Given the description of an element on the screen output the (x, y) to click on. 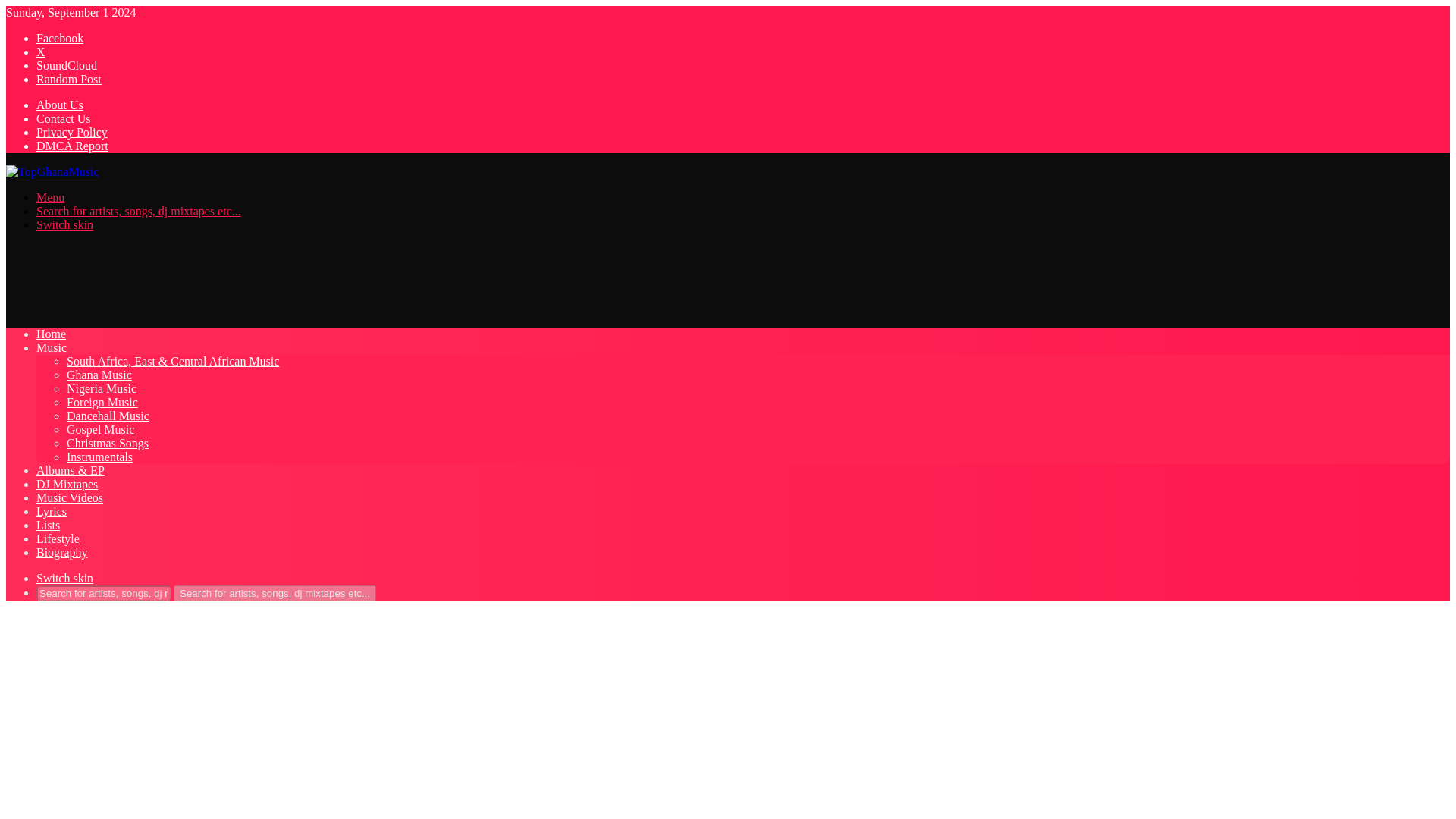
TopGhanaMusic (52, 171)
Music Videos (69, 497)
Ghana Music (99, 374)
Lifestyle (58, 538)
Contact Us (63, 118)
Christmas Songs (107, 442)
Random Post (68, 78)
Random Post (68, 78)
Home (50, 333)
Search for artists, songs, dj mixtapes etc... (138, 210)
